Given the description of an element on the screen output the (x, y) to click on. 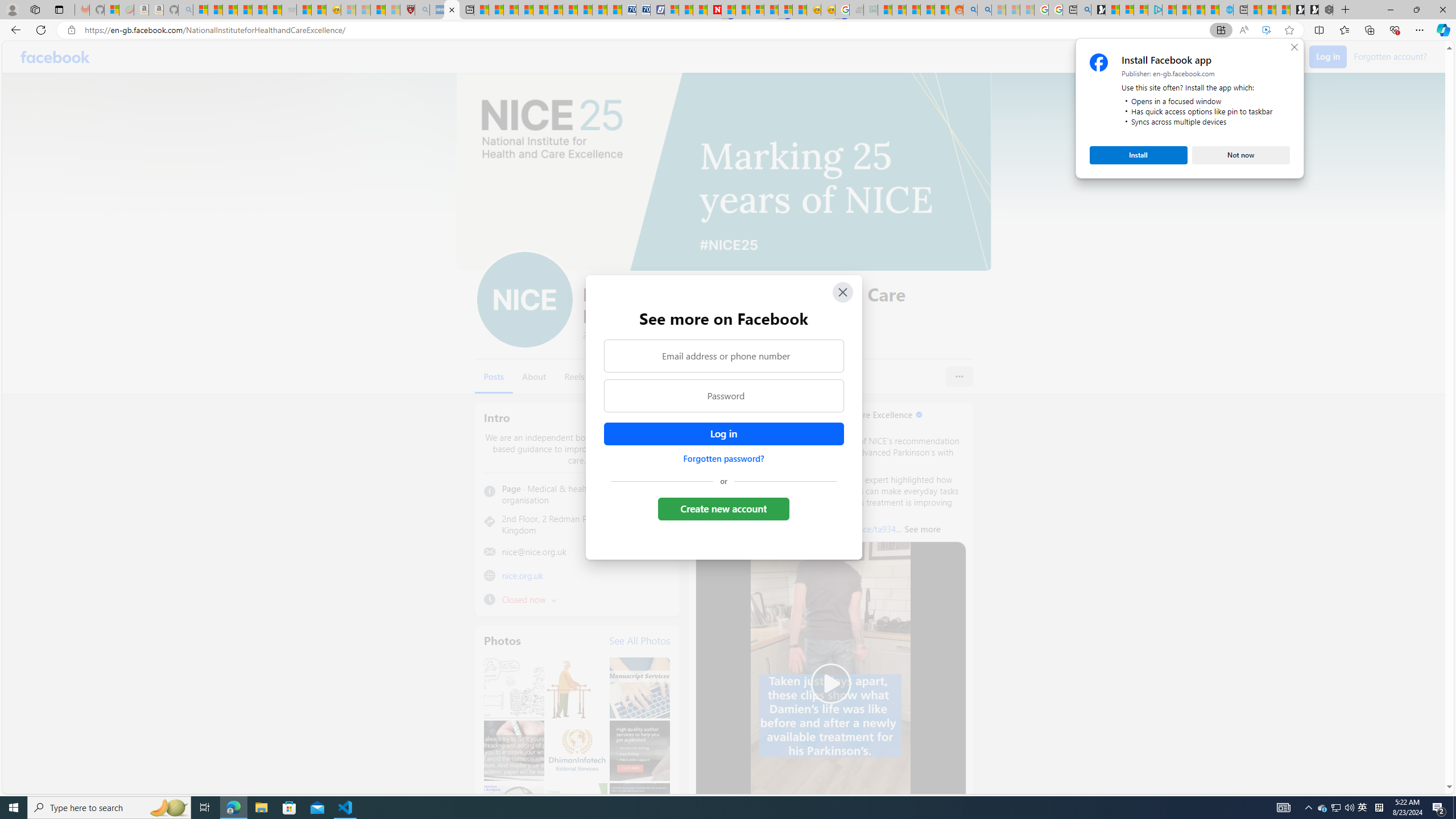
Forgotten account? (1390, 55)
Microsoft Edge - 1 running window (233, 807)
Visual Studio Code - 1 running window (345, 807)
Action Center, 2 new notifications (1439, 807)
Start (13, 807)
Climate Damage Becomes Too Severe To Reverse (525, 9)
Install (1138, 154)
Accessible login button (723, 433)
